Given the description of an element on the screen output the (x, y) to click on. 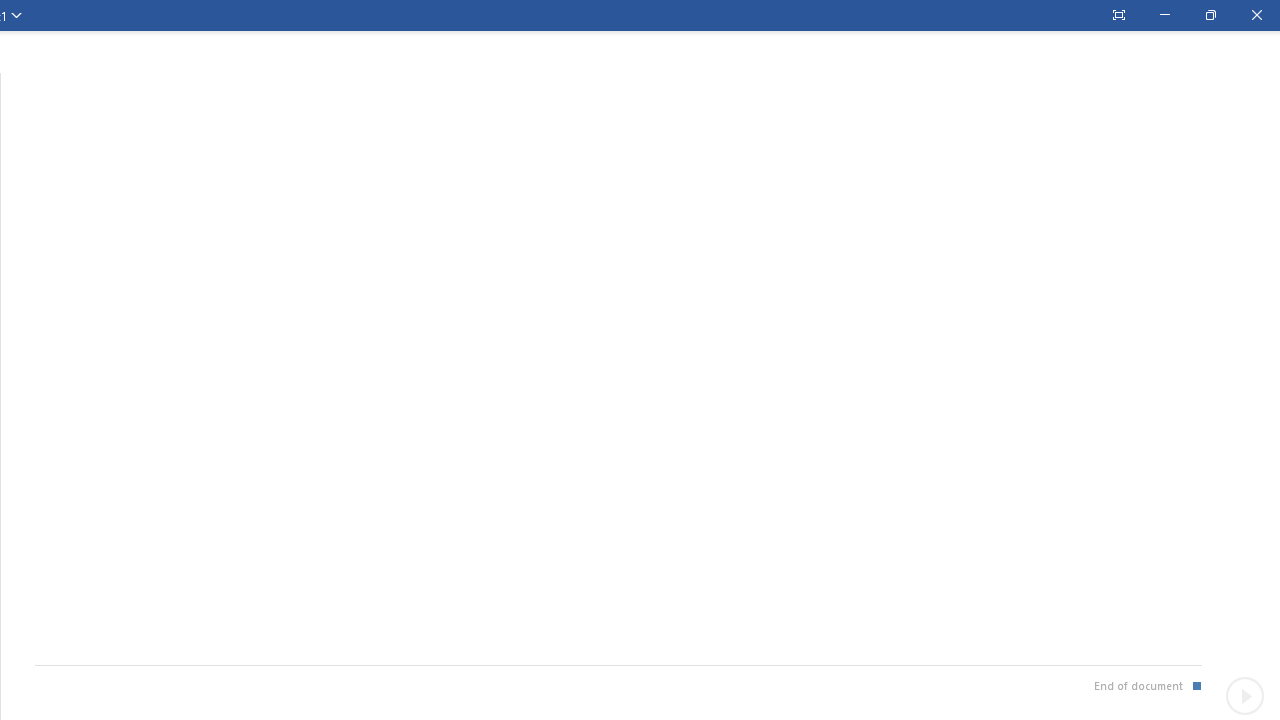
Auto-hide Reading Toolbar (1118, 15)
